Given the description of an element on the screen output the (x, y) to click on. 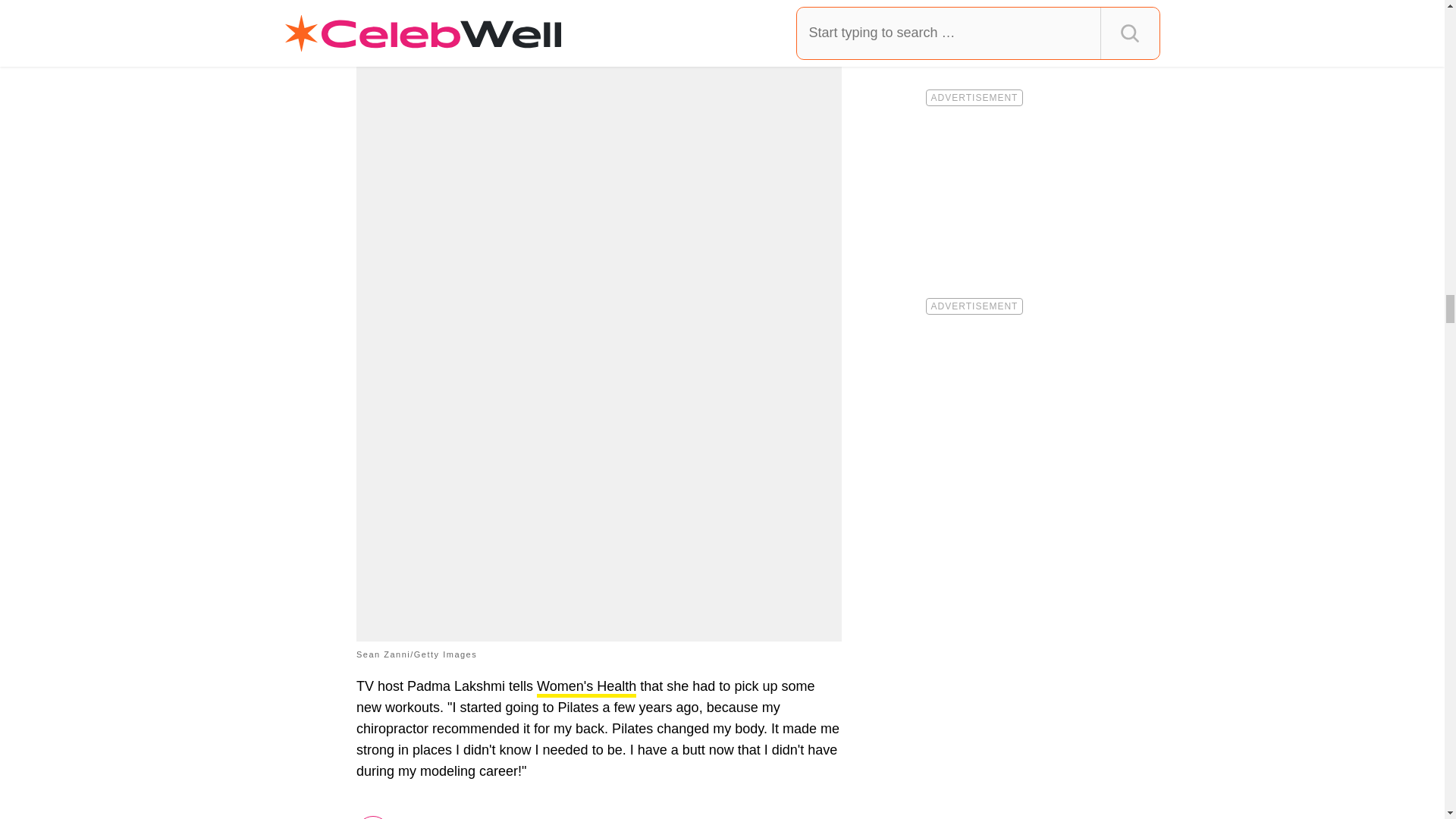
Women's Health (586, 687)
